Given the description of an element on the screen output the (x, y) to click on. 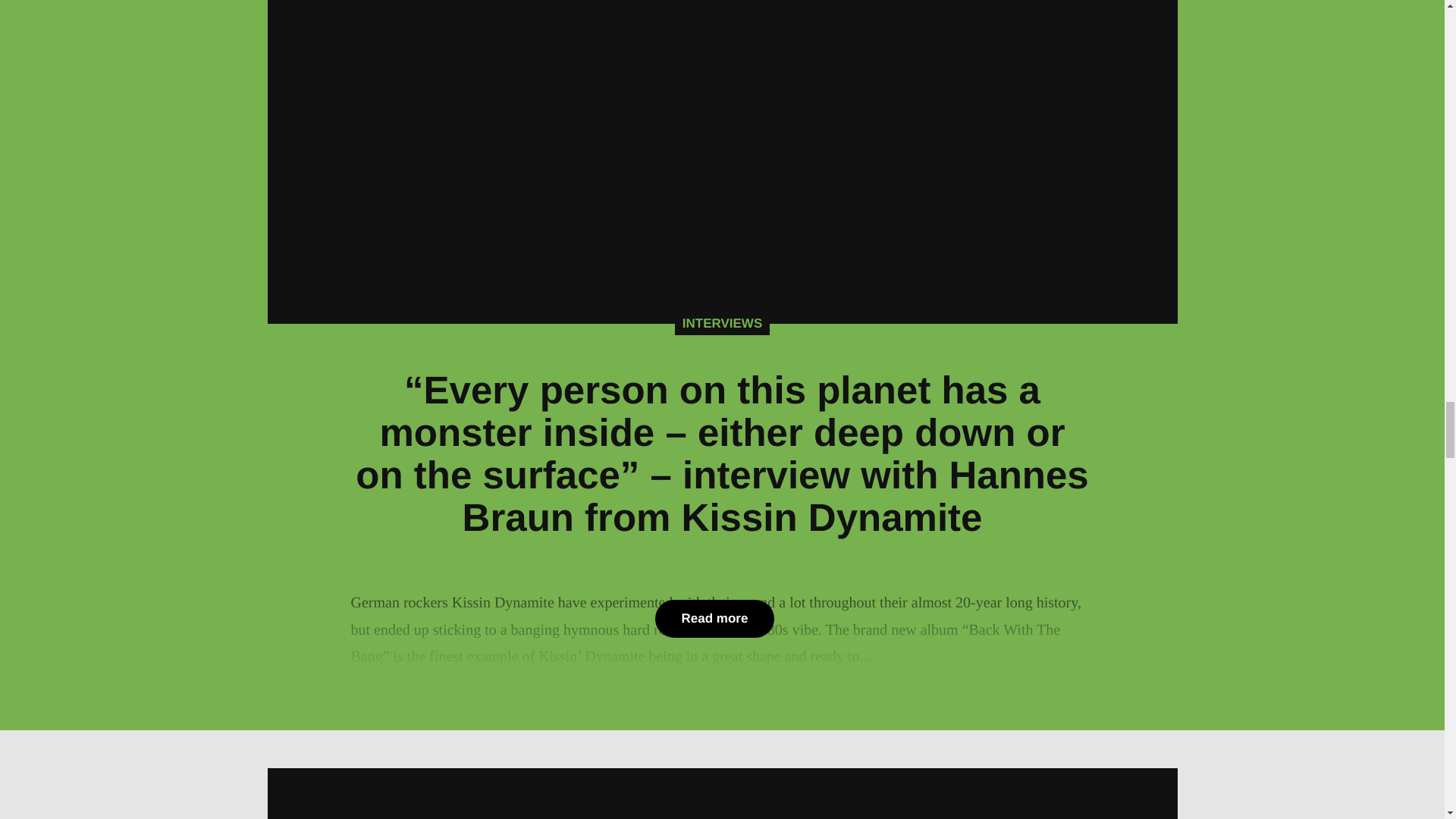
INTERVIEWS (722, 323)
